Given the description of an element on the screen output the (x, y) to click on. 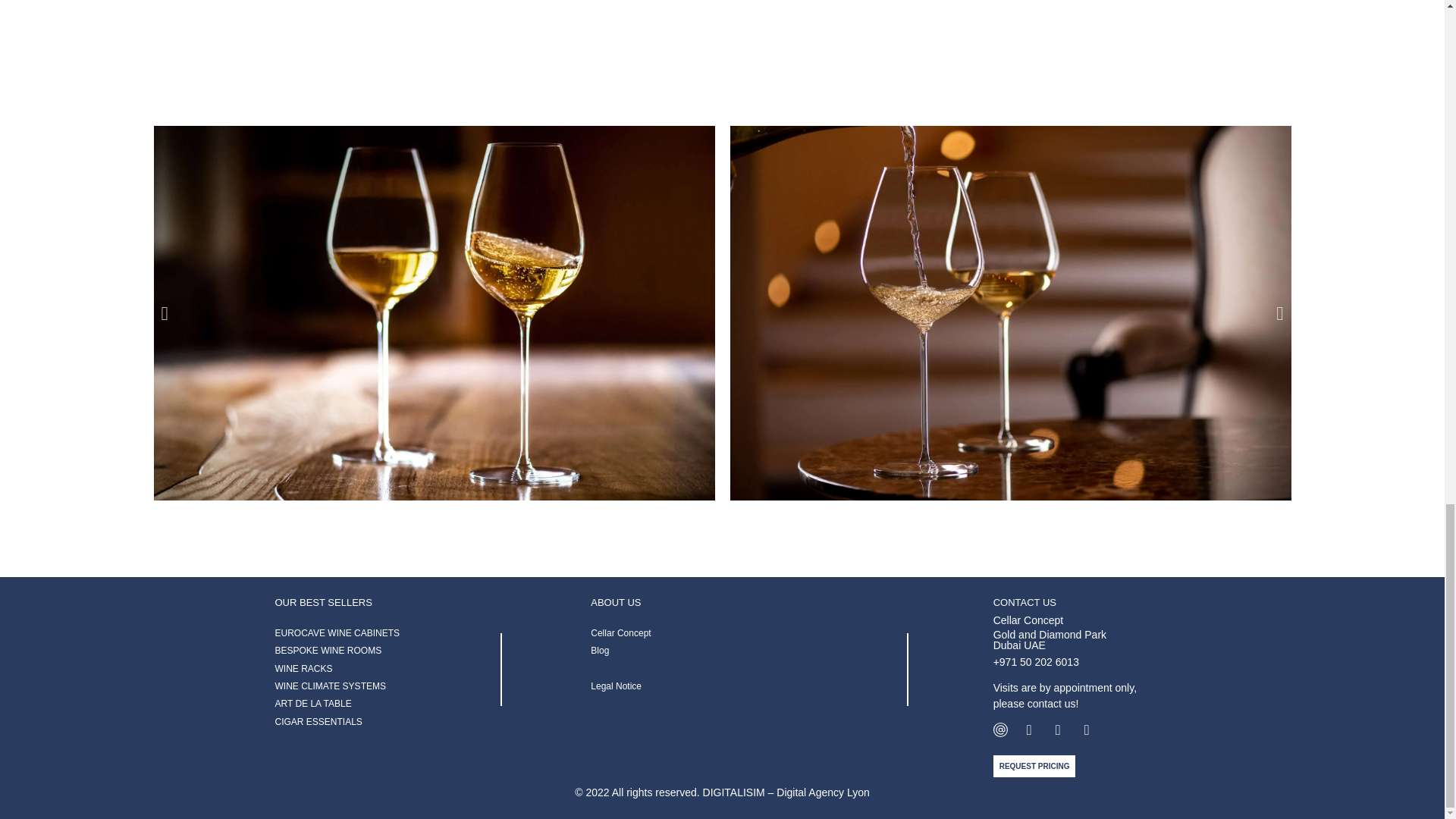
EUROCAVE WINE CABINETS (336, 633)
WINE RACKS (303, 668)
BESPOKE WINE ROOMS (328, 650)
